Given the description of an element on the screen output the (x, y) to click on. 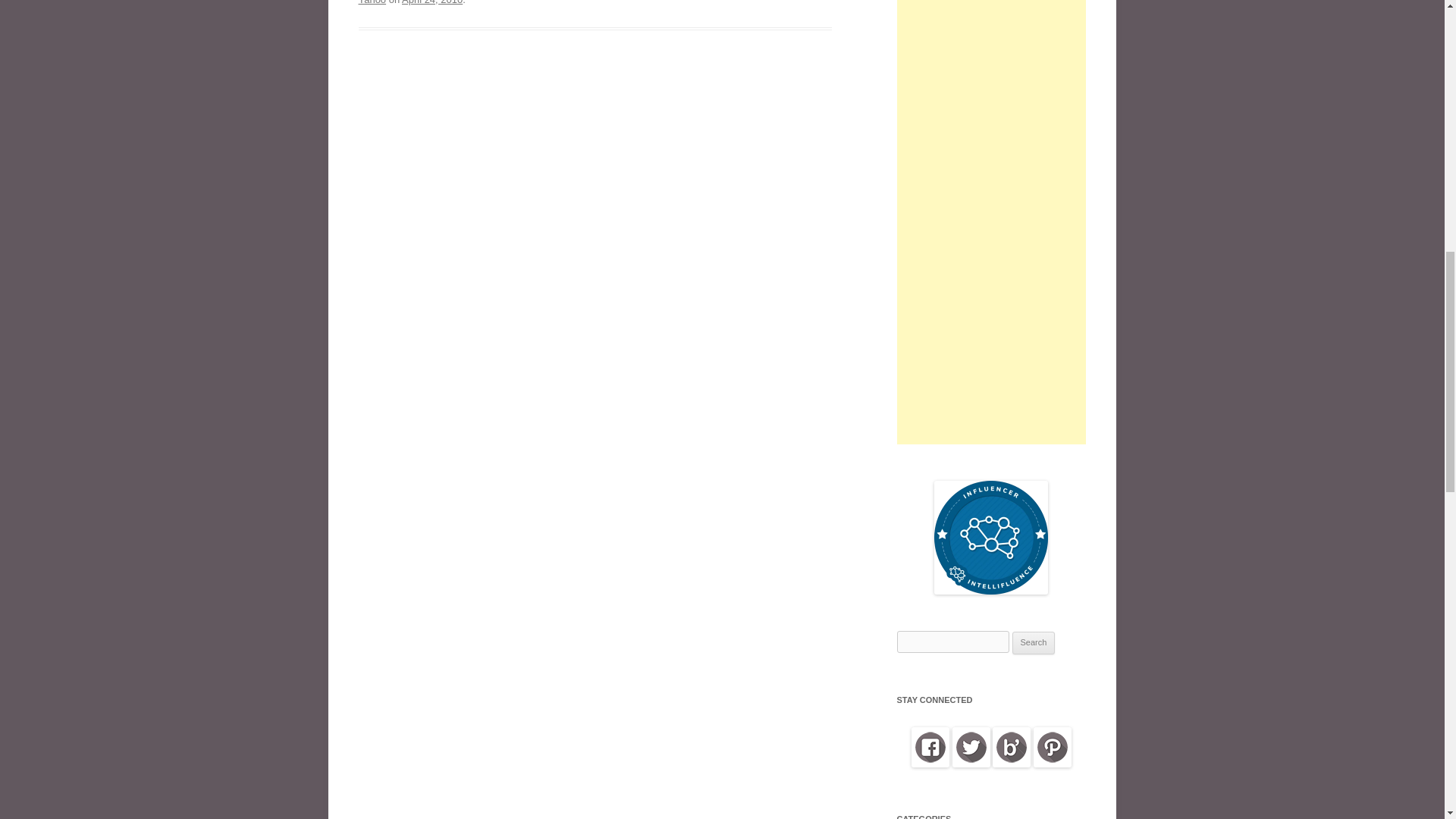
Search (1033, 642)
4:56 am (432, 2)
Search (1033, 642)
April 24, 2010 (432, 2)
Yahoo (371, 2)
